Given the description of an element on the screen output the (x, y) to click on. 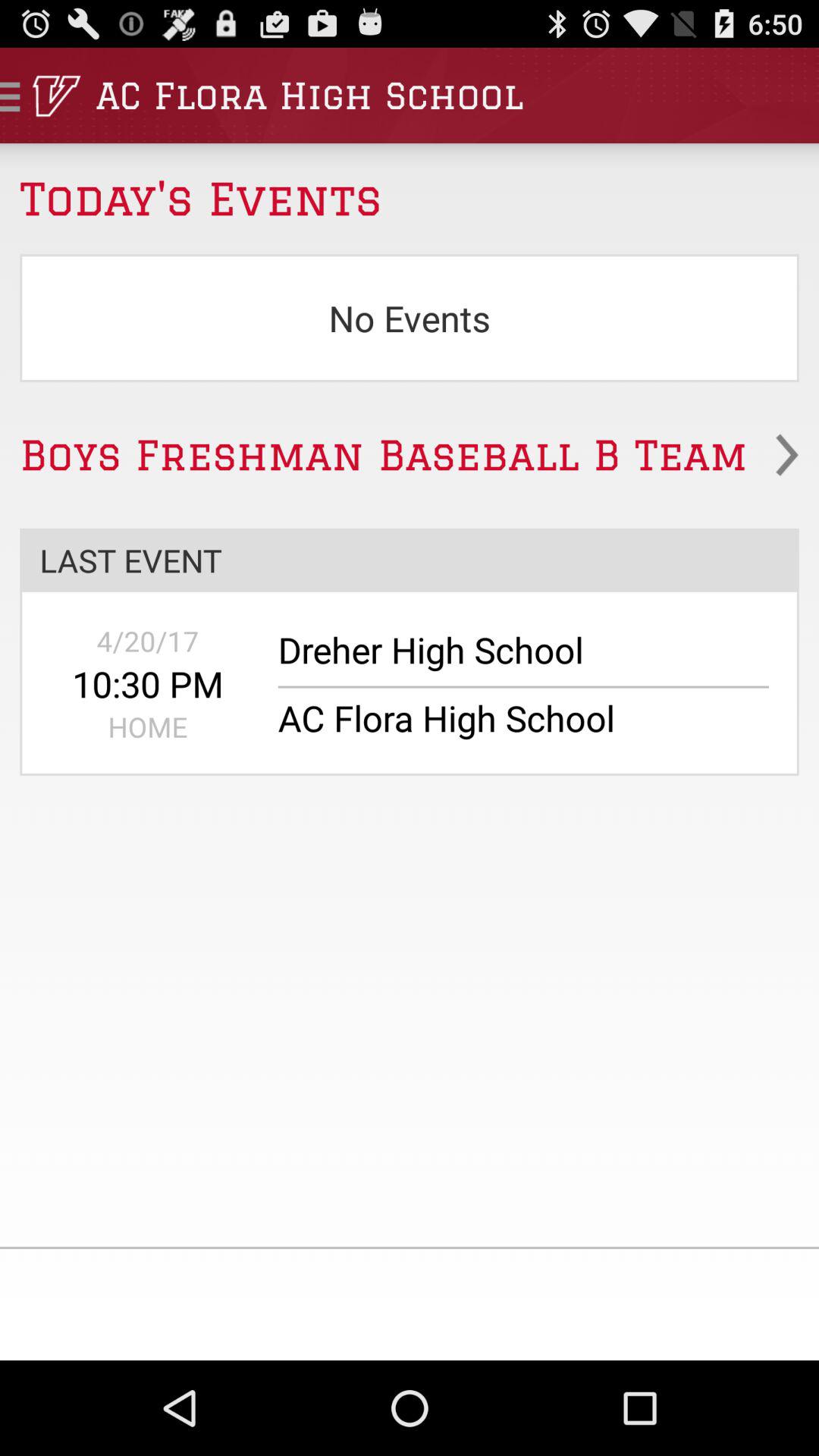
turn on today's events item (409, 188)
